Given the description of an element on the screen output the (x, y) to click on. 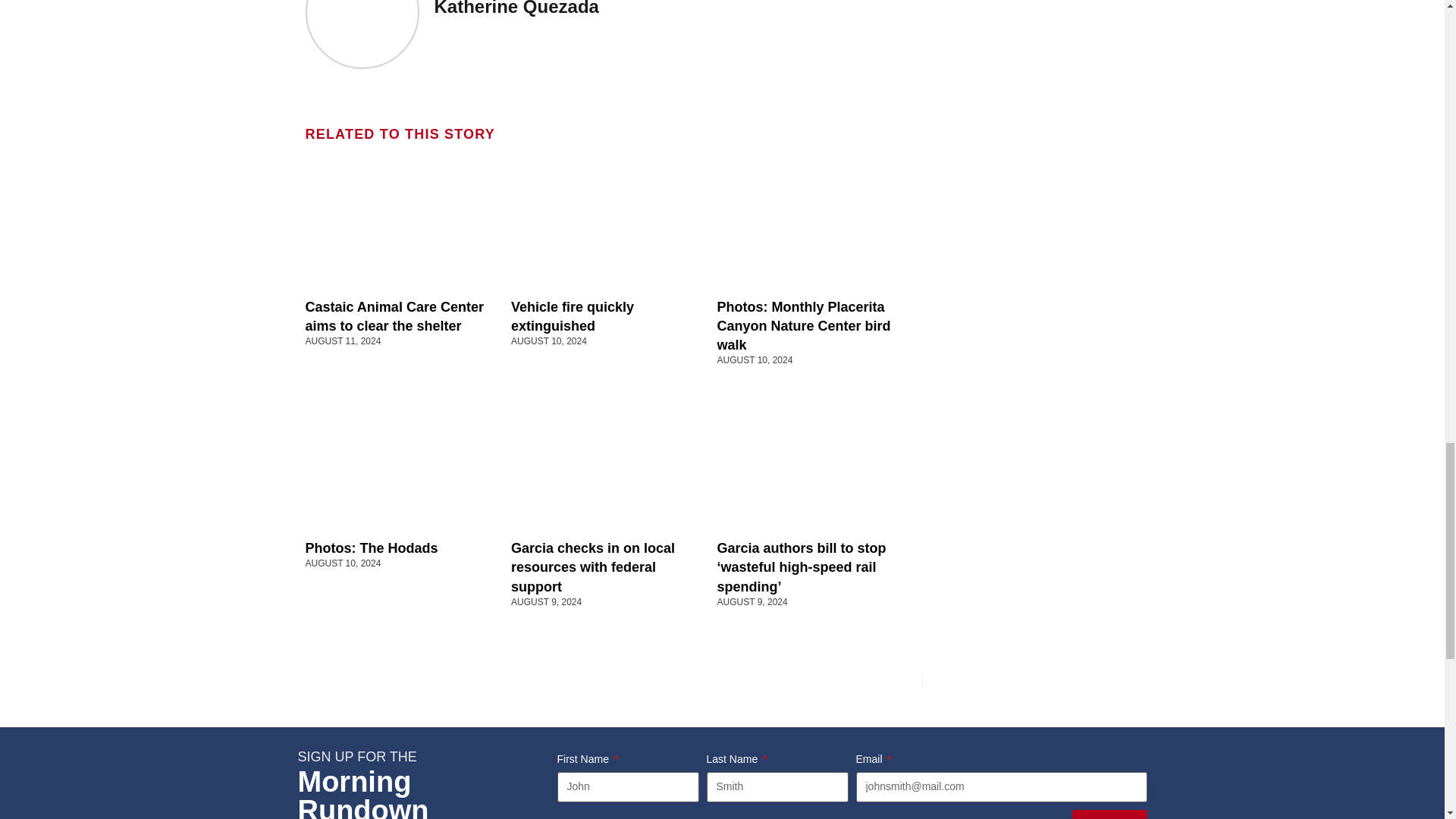
3rd party ad content (1031, 374)
3rd party ad content (1031, 29)
3rd party ad content (1031, 579)
3rd party ad content (1031, 169)
